Given the description of an element on the screen output the (x, y) to click on. 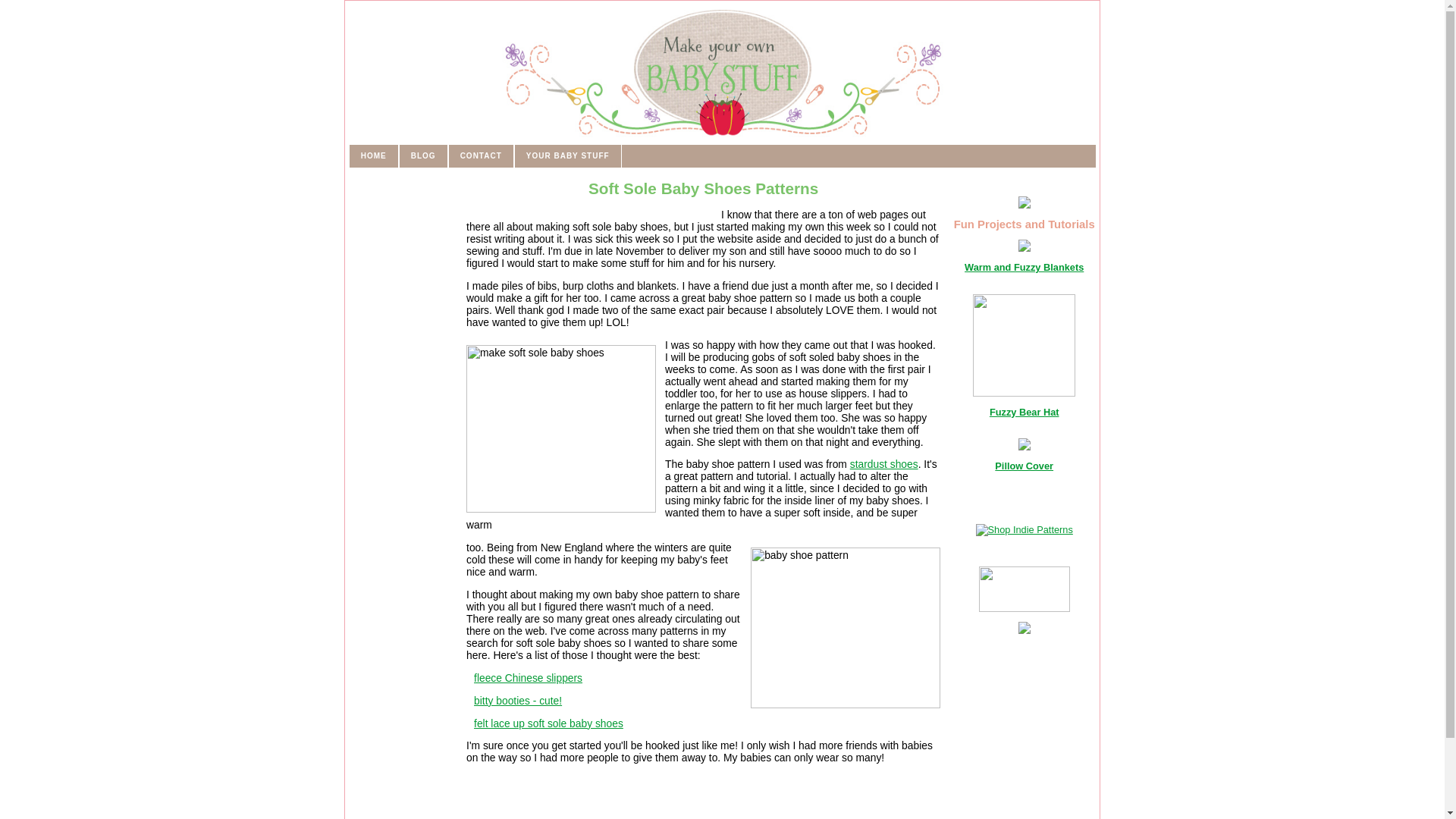
Pillow Cover (1023, 465)
Warm and Fuzzy Blankets (1023, 266)
stardust shoes (884, 463)
HOME (373, 155)
bitty booties - cute! (518, 700)
return to homepage (722, 70)
CONTACT (480, 155)
BLOG (423, 155)
felt lace up soft sole baby shoes (548, 723)
Fuzzy Bear Hat (1024, 411)
fleece Chinese slippers (528, 677)
YOUR BABY STUFF (567, 155)
